Given the description of an element on the screen output the (x, y) to click on. 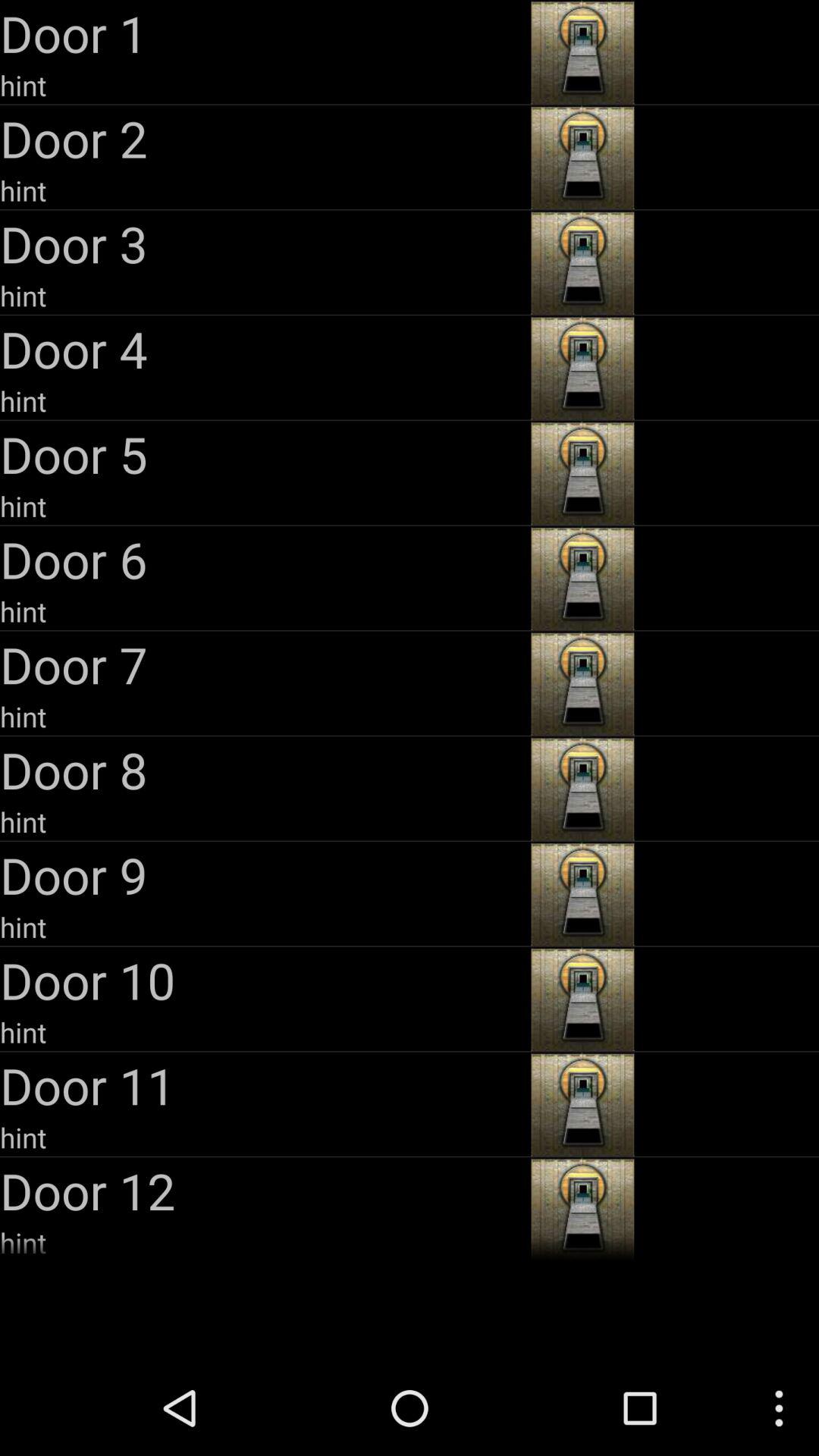
choose the door 8 (263, 769)
